Given the description of an element on the screen output the (x, y) to click on. 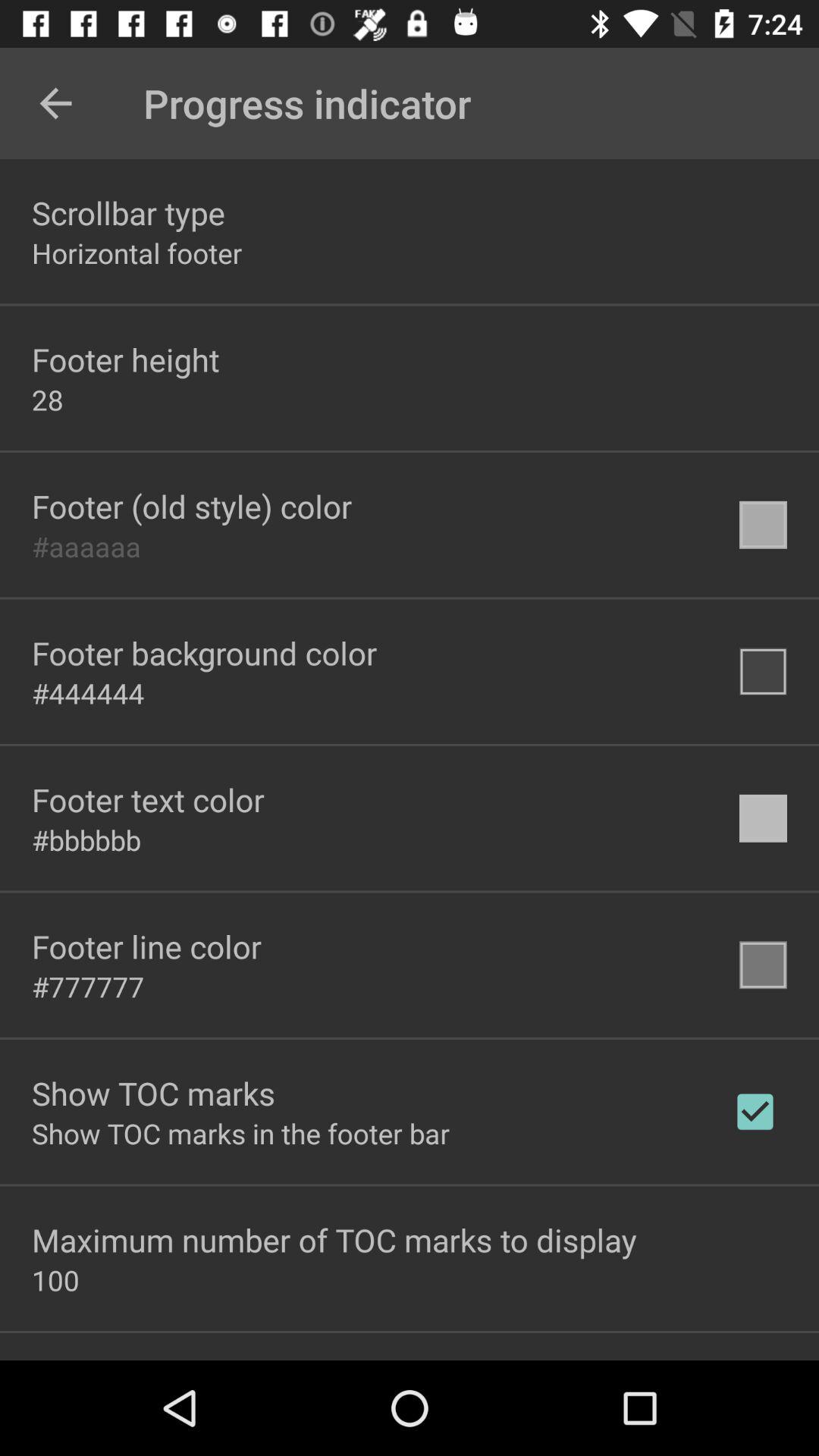
select #bbbbbb icon (86, 839)
